Given the description of an element on the screen output the (x, y) to click on. 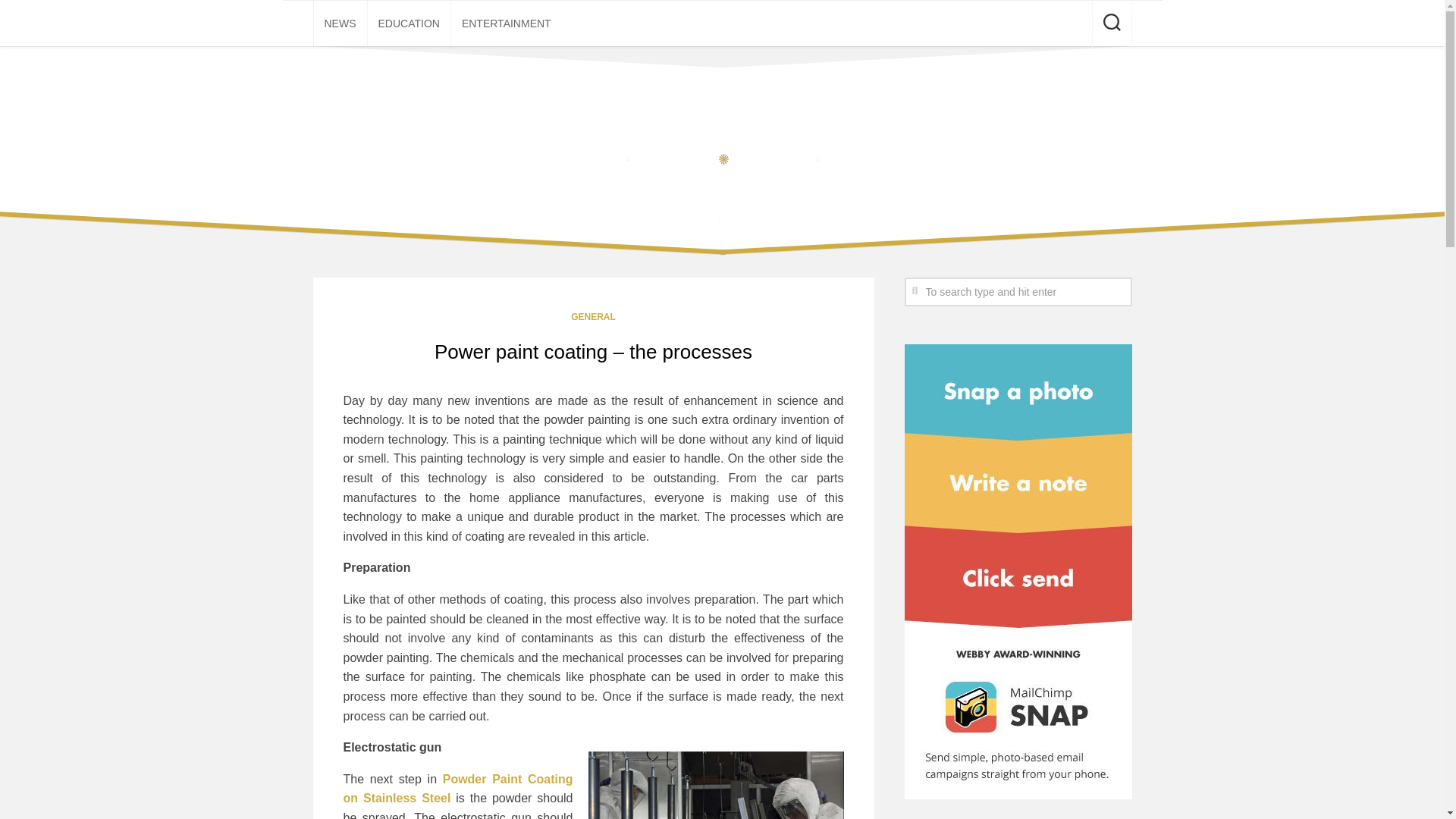
GENERAL (592, 317)
NEWS (340, 23)
ENTERTAINMENT (506, 23)
Powder Paint Coating on Stainless Steel (457, 789)
EDUCATION (408, 23)
To search type and hit enter (1017, 291)
To search type and hit enter (1017, 291)
